Given the description of an element on the screen output the (x, y) to click on. 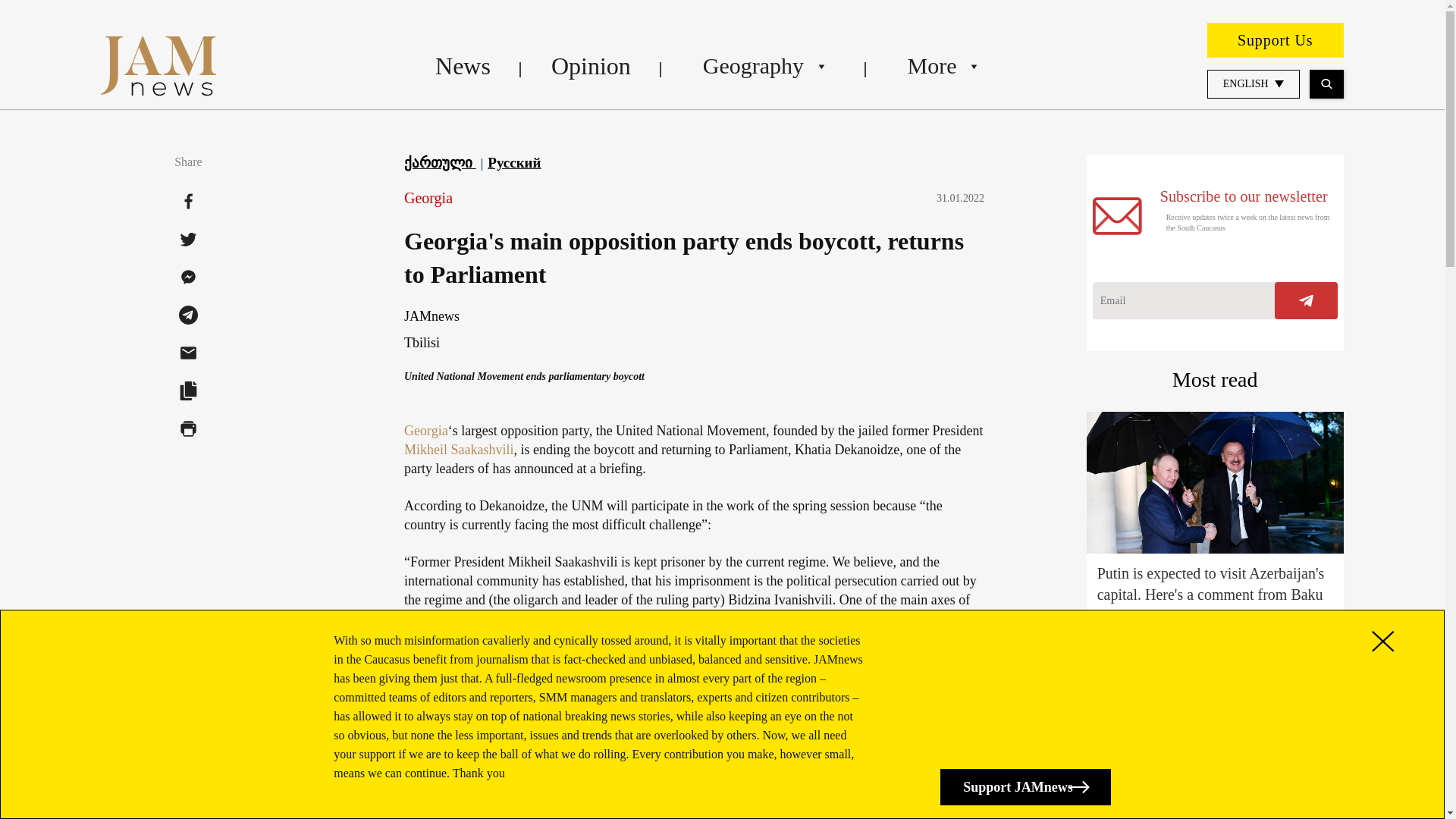
Opinion (591, 65)
Support Us (1275, 39)
Geography (763, 65)
More (942, 65)
News (462, 65)
